Given the description of an element on the screen output the (x, y) to click on. 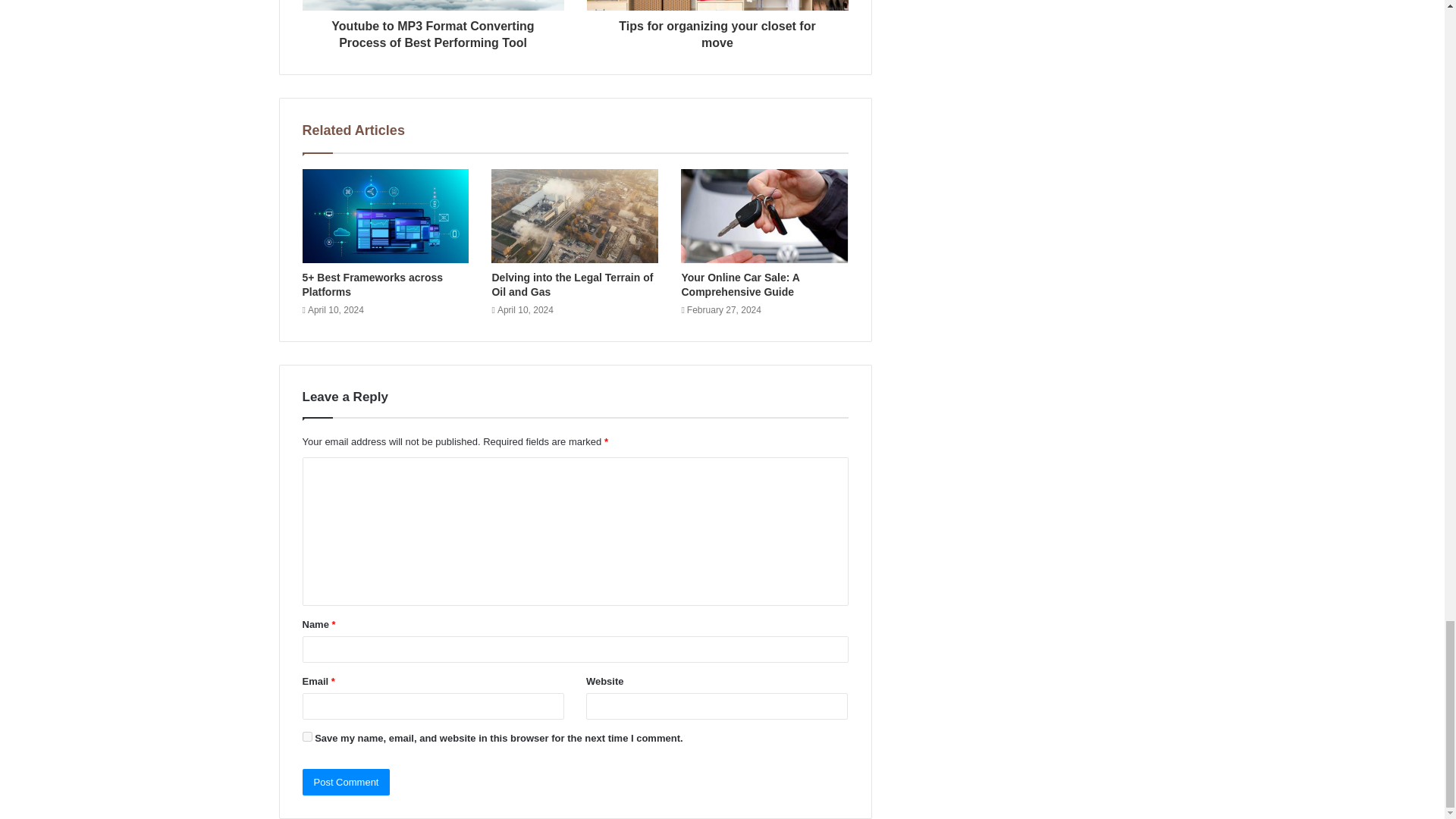
Post Comment (345, 782)
yes (306, 737)
